Given the description of an element on the screen output the (x, y) to click on. 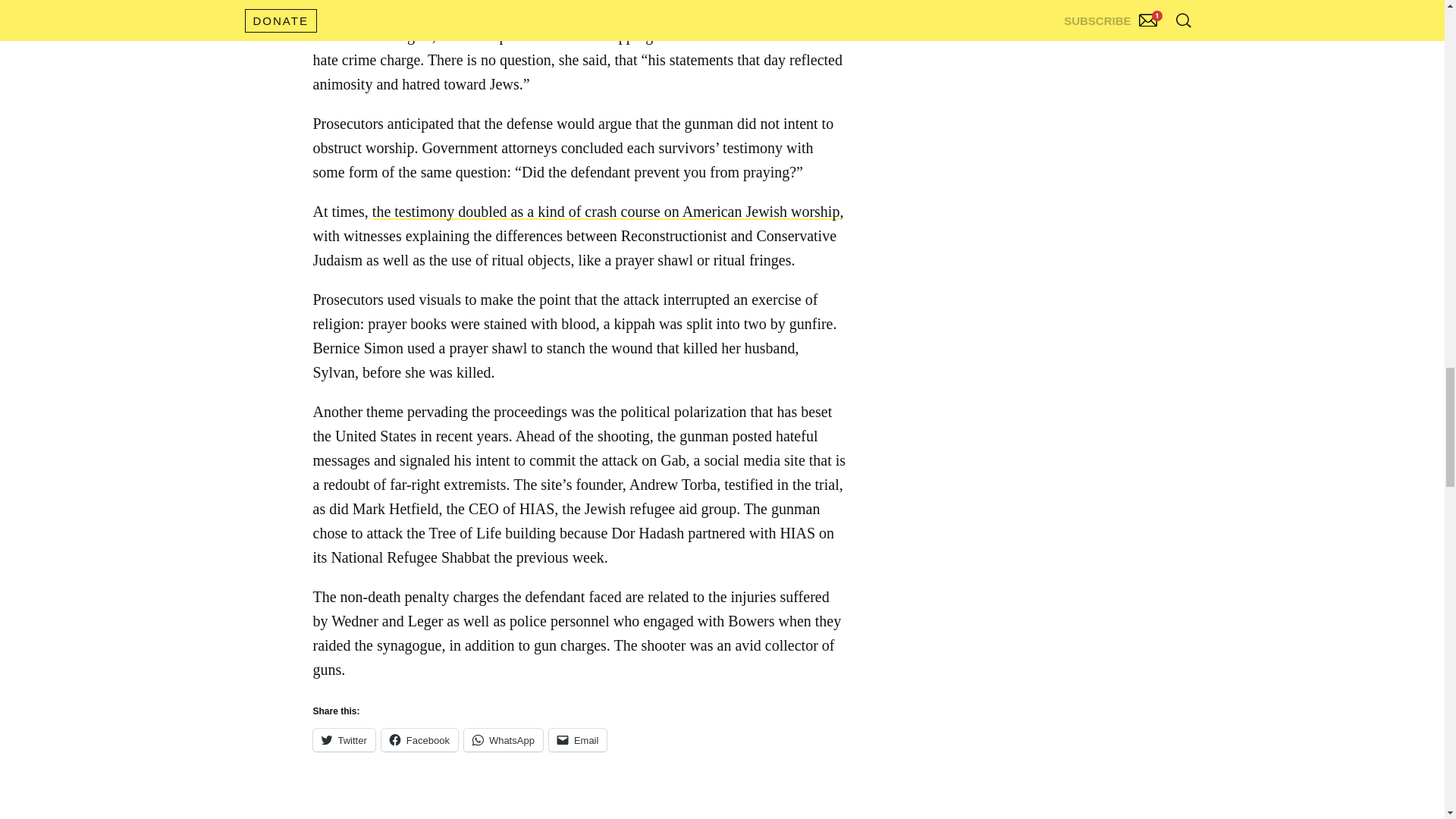
Click to share on Twitter (343, 739)
Click to email a link to a friend (577, 739)
Click to share on Facebook (419, 739)
Click to share on WhatsApp (503, 739)
